Given the description of an element on the screen output the (x, y) to click on. 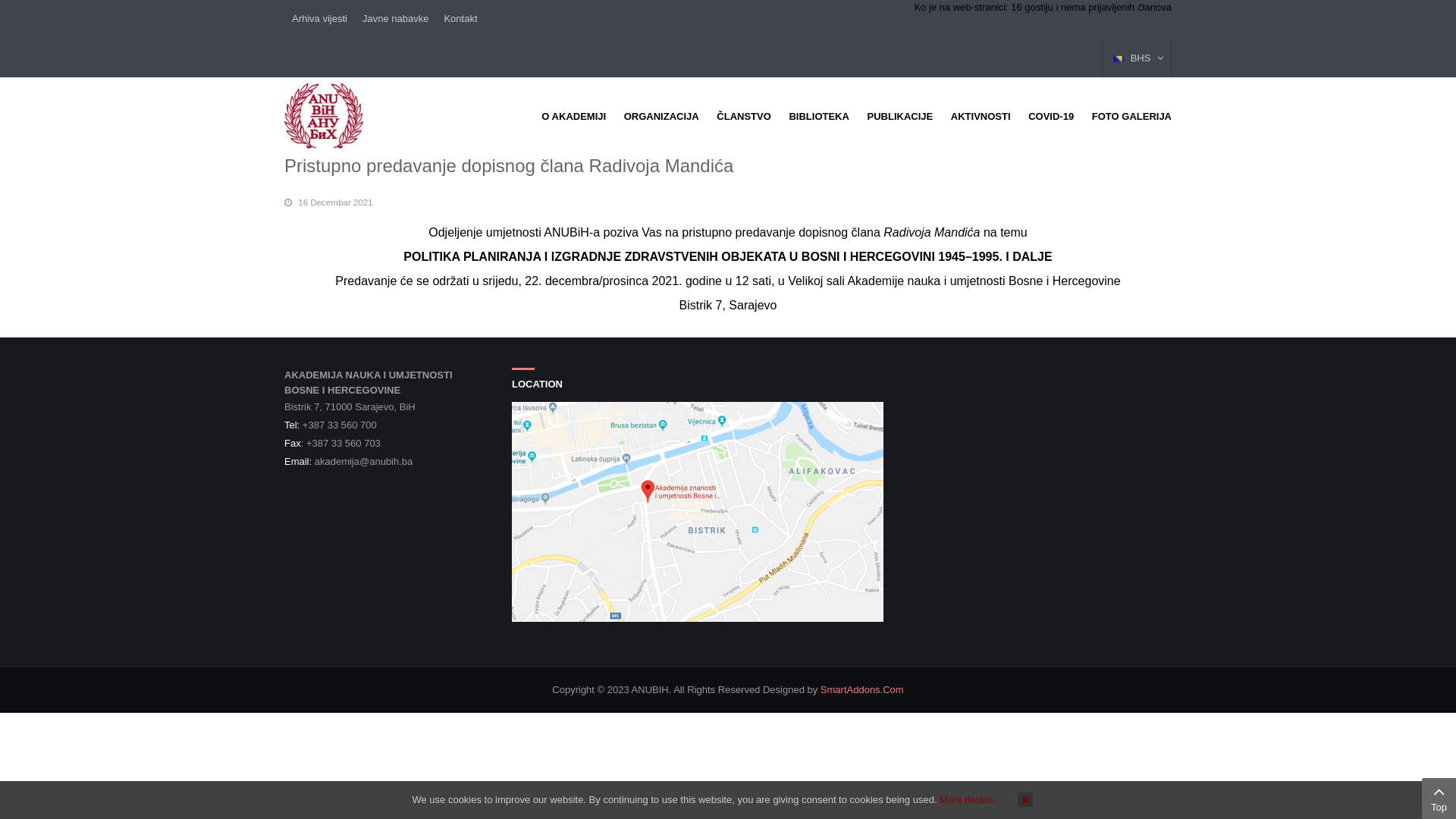
O AKADEMIJI Element type: text (573, 116)
ORGANIZACIJA Element type: text (661, 116)
Arhiva vijesti Element type: text (319, 18)
SmartAddons.Com Element type: text (861, 689)
Javne nabavke Element type: text (395, 18)
AKTIVNOSTI Element type: text (980, 116)
FOTO GALERIJA Element type: text (1131, 116)
BHS Element type: text (1136, 58)
ANUBIH Element type: hover (323, 114)
BIBLIOTEKA Element type: text (818, 116)
PUBLIKACIJE Element type: text (900, 116)
BHS Element type: hover (1118, 58)
Kontakt Element type: text (460, 18)
